Given the description of an element on the screen output the (x, y) to click on. 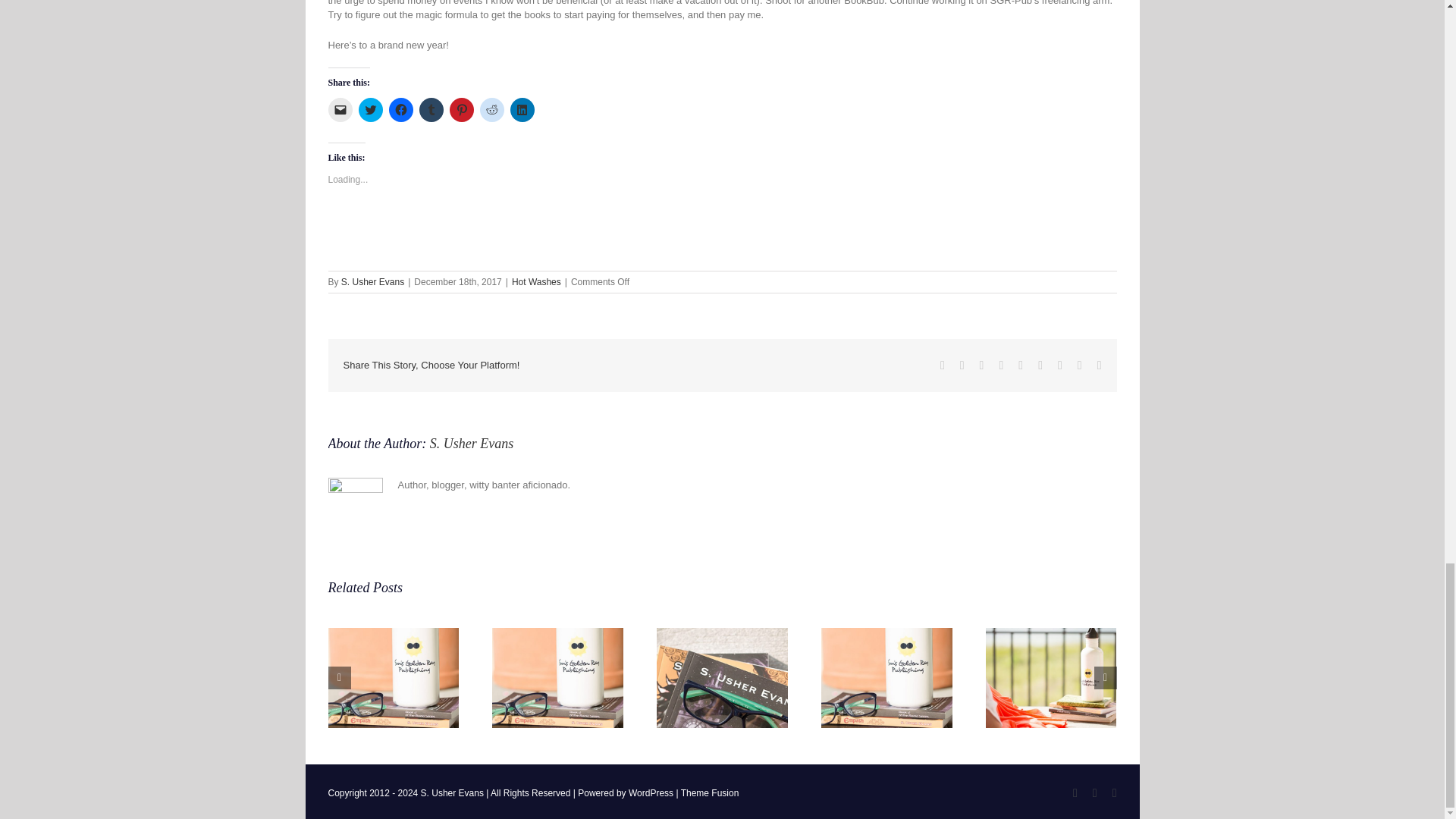
Click to share on Pinterest (460, 109)
Click to share on Reddit (491, 109)
Click to share on Tumblr (430, 109)
Click to share on Twitter (369, 109)
Posts by S. Usher Evans (372, 281)
Click to share on LinkedIn (521, 109)
Click to share on Facebook (400, 109)
Click to email a link to a friend (339, 109)
Like or Reblog (721, 234)
